Given the description of an element on the screen output the (x, y) to click on. 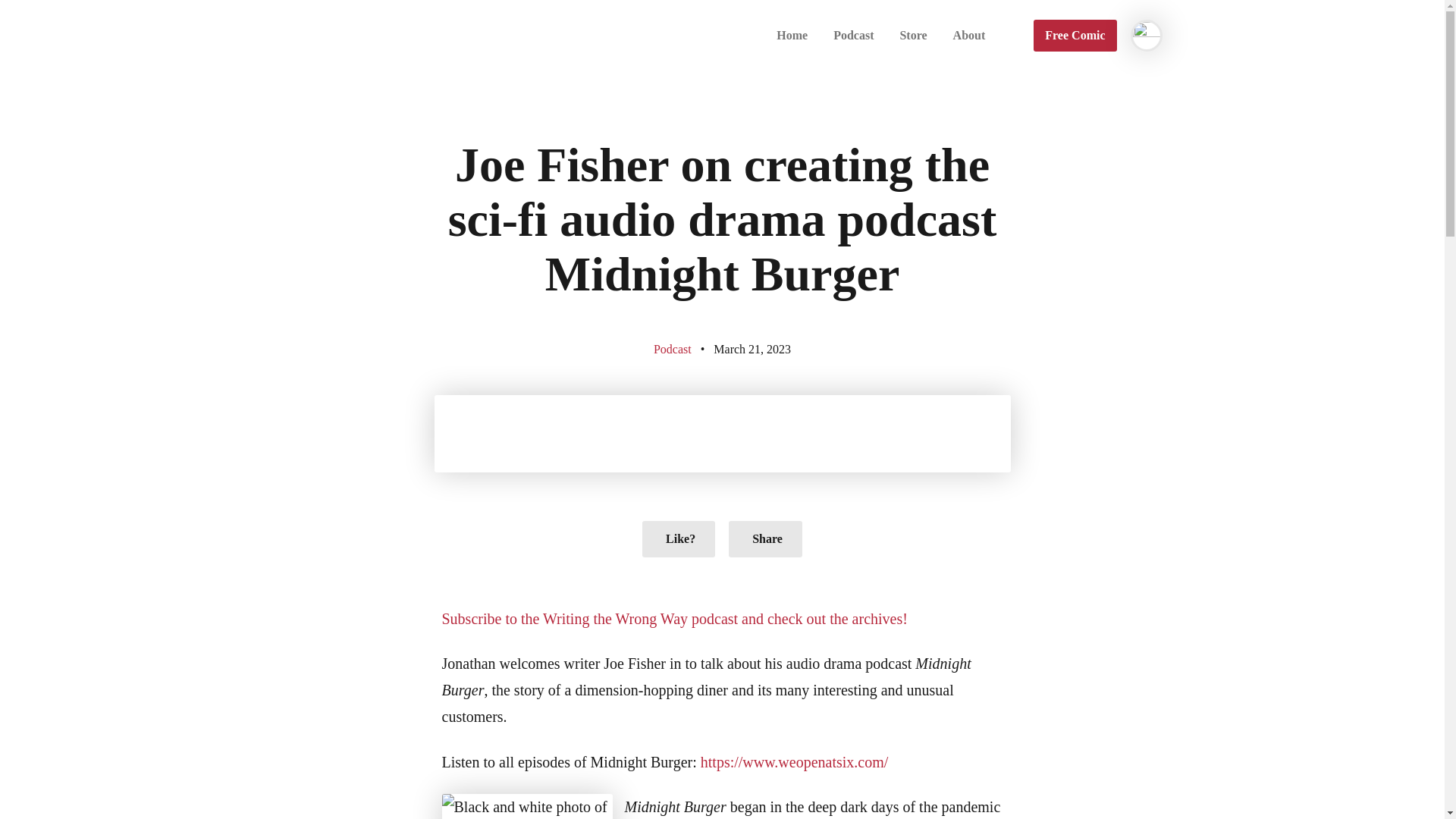
My Account (1138, 29)
Podcast (853, 35)
Home (791, 35)
Like? (678, 538)
Store (912, 35)
Share (765, 538)
STRANGER FICTION (408, 37)
Free Comic (1074, 35)
About (969, 35)
